Given the description of an element on the screen output the (x, y) to click on. 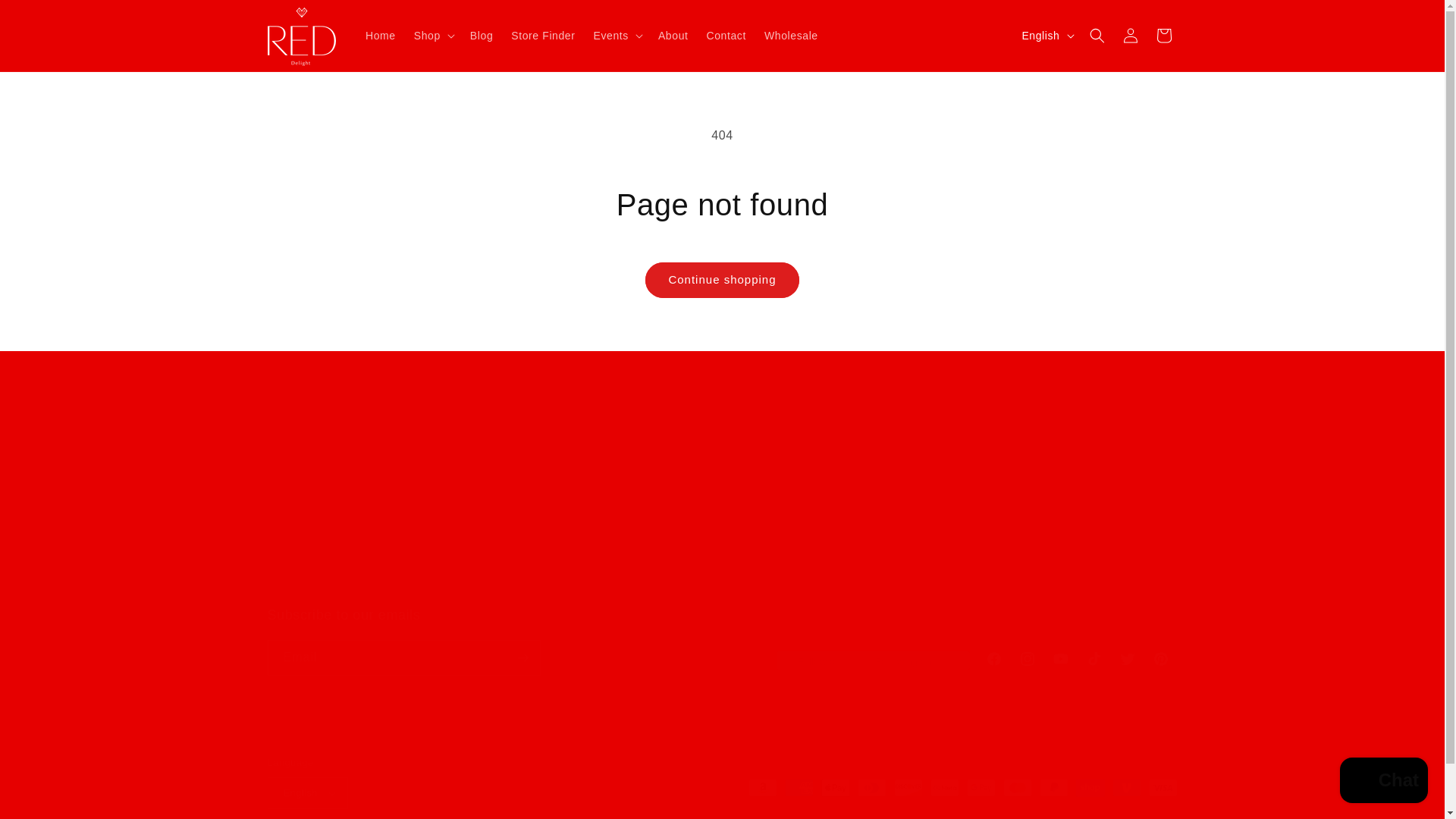
About (673, 35)
Contact (726, 35)
Store Finder (542, 35)
Shopify online store chat (1383, 781)
RED Delight Chocolate - All Pleasure, No Guilt! (1072, 503)
Blog (481, 35)
Wholesale (791, 35)
Home (380, 35)
